Given the description of an element on the screen output the (x, y) to click on. 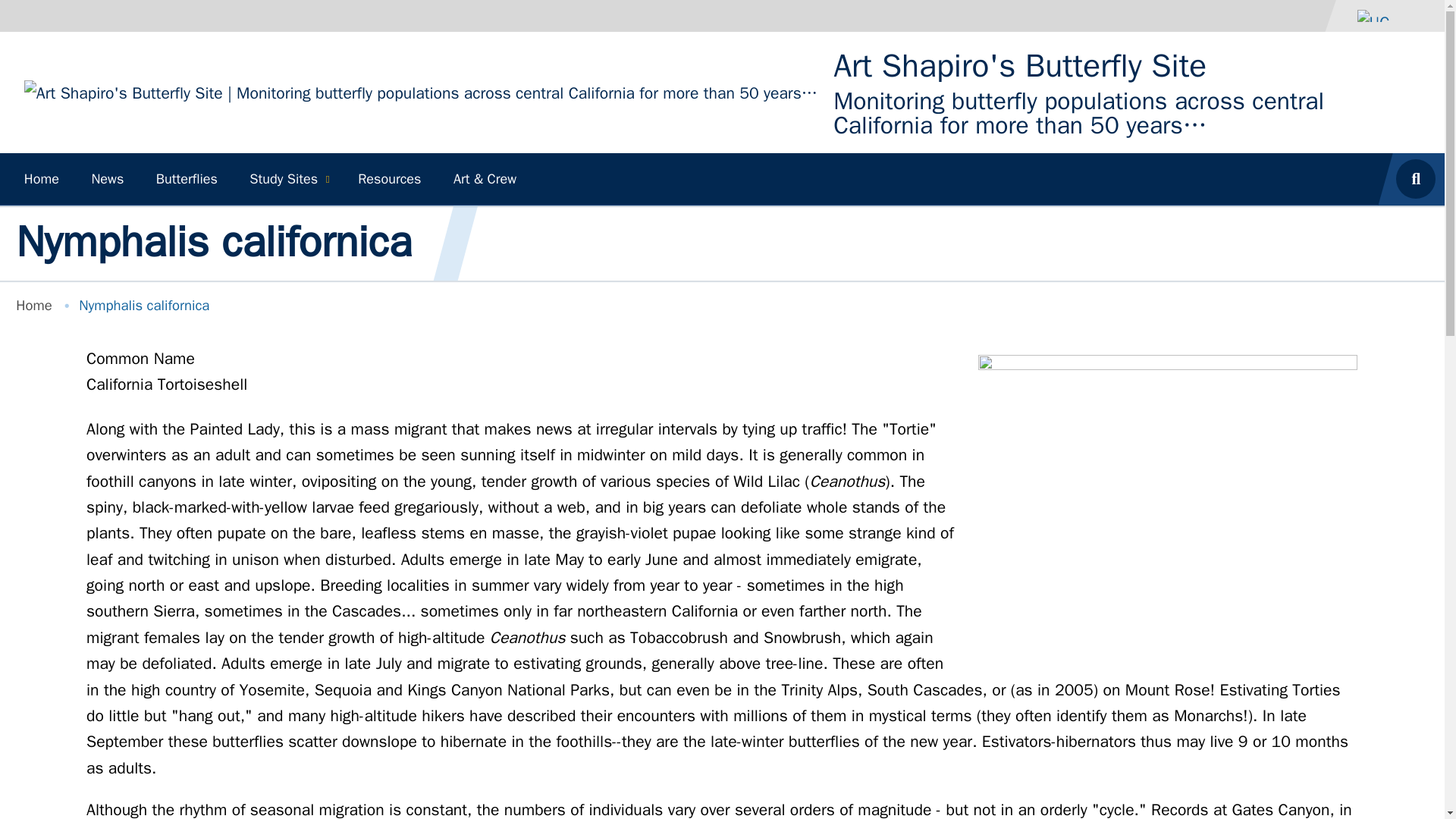
Home (34, 305)
News (107, 179)
Home (420, 91)
Home (1019, 65)
Resources (389, 179)
Study Sites (287, 179)
Open Search (1419, 179)
Butterfly study sites. (287, 179)
Home (41, 179)
Butterflies (186, 179)
Art Shapiro's Butterfly Site (1019, 65)
